Given the description of an element on the screen output the (x, y) to click on. 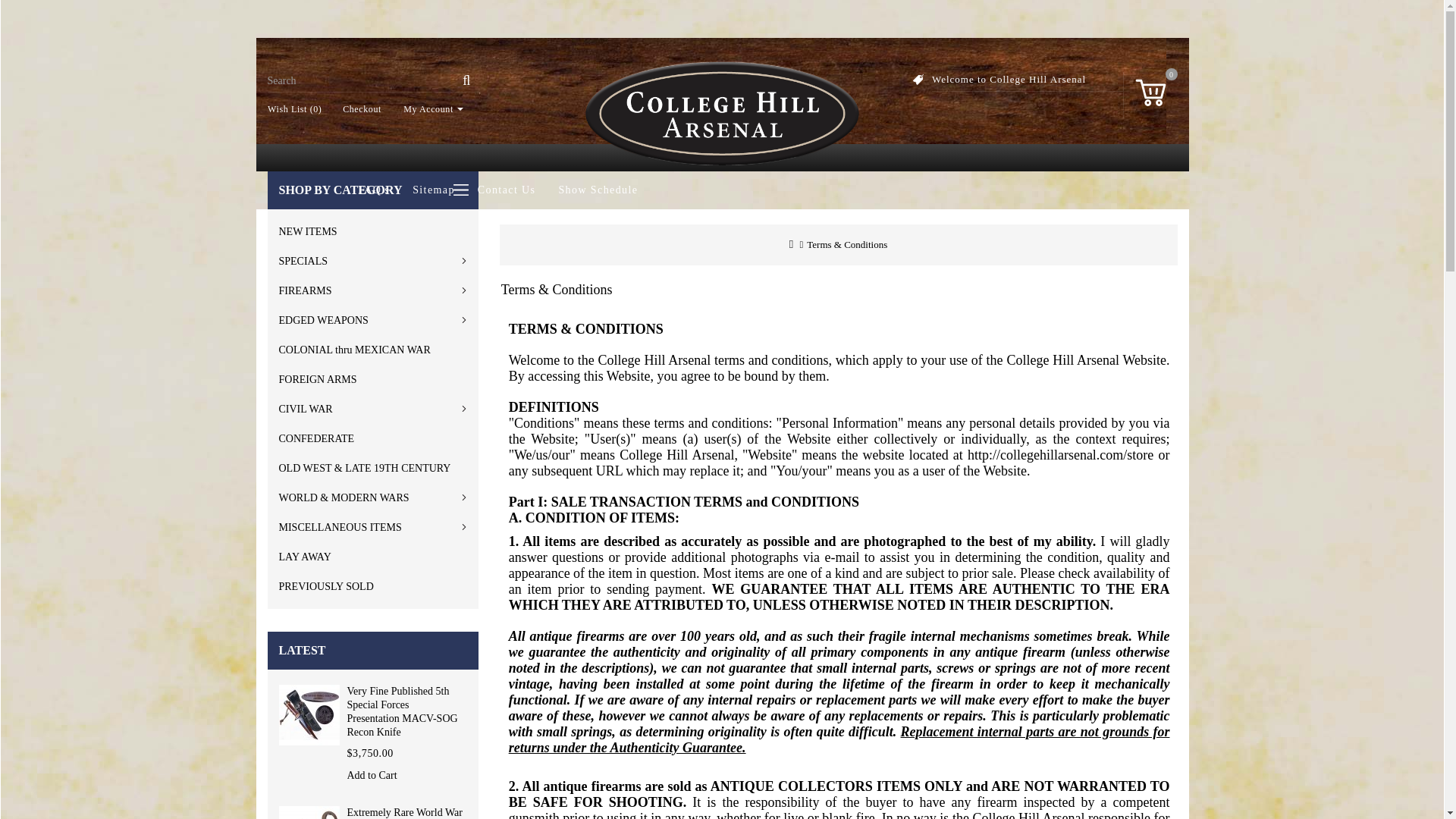
My Account (428, 109)
My Account (428, 109)
Checkout (356, 109)
SEARCH (466, 86)
Checkout (356, 109)
0 (1150, 89)
College Hill Arsenal (721, 113)
